Given the description of an element on the screen output the (x, y) to click on. 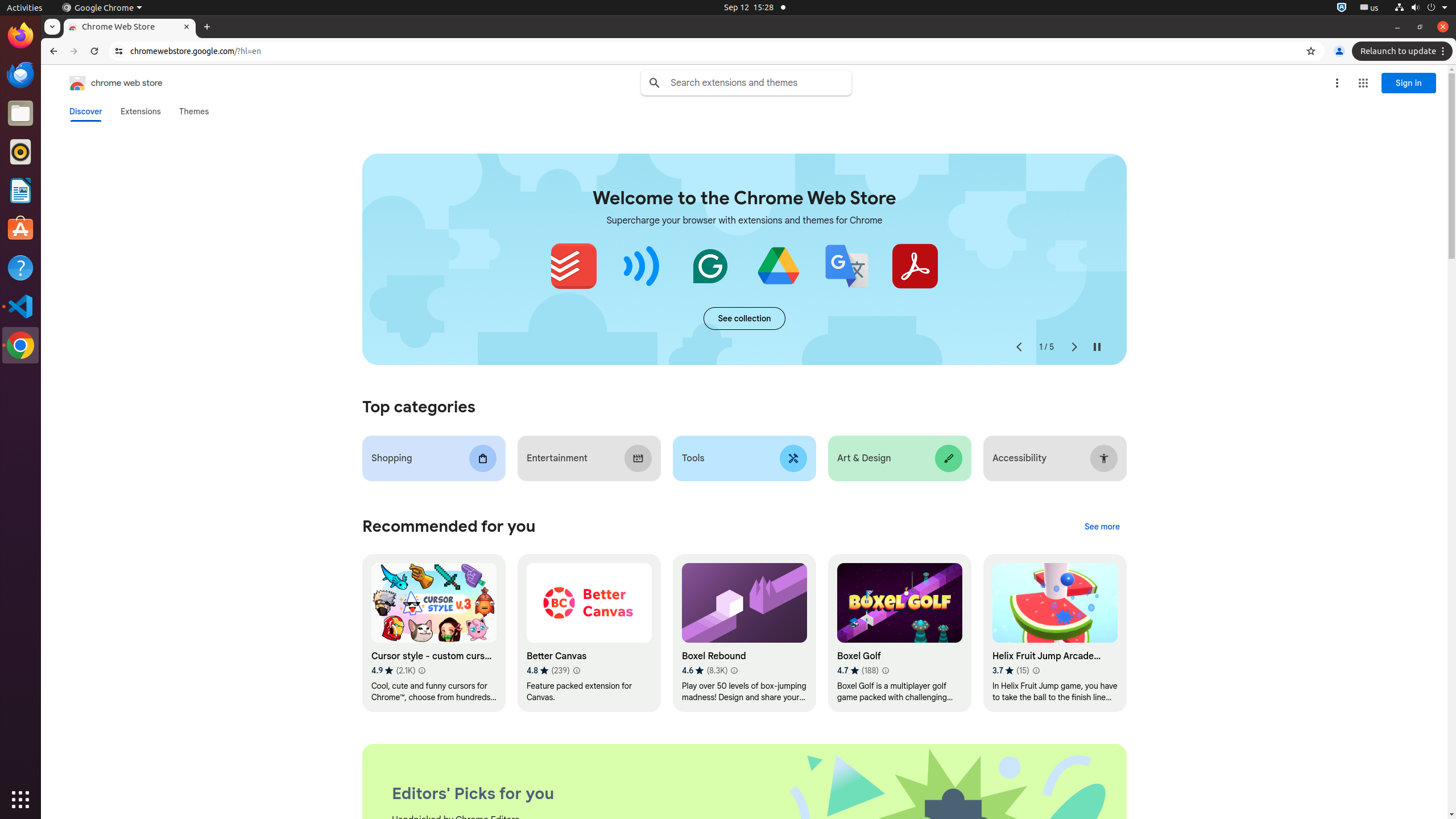
:1.72/StatusNotifierItem Element type: menu (1341, 7)
Pause auto-play Element type: push-button (1096, 346)
You Element type: push-button (1339, 50)
New Tab Element type: push-button (206, 26)
Sign in Element type: link (1408, 82)
